Given the description of an element on the screen output the (x, y) to click on. 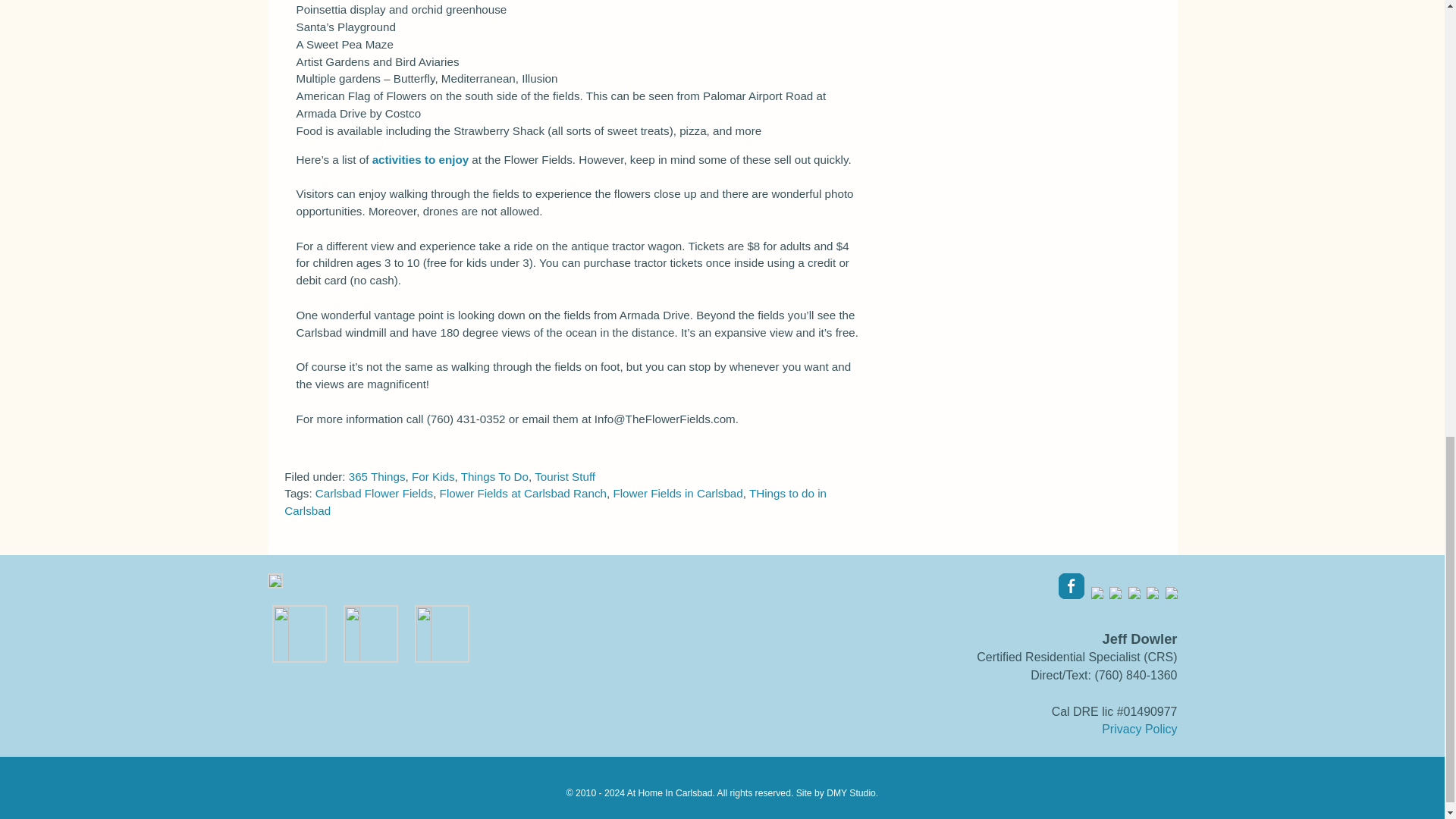
activities to enjoy (420, 159)
For Kids (433, 476)
365 Things (377, 476)
Things To Do (494, 476)
